Given the description of an element on the screen output the (x, y) to click on. 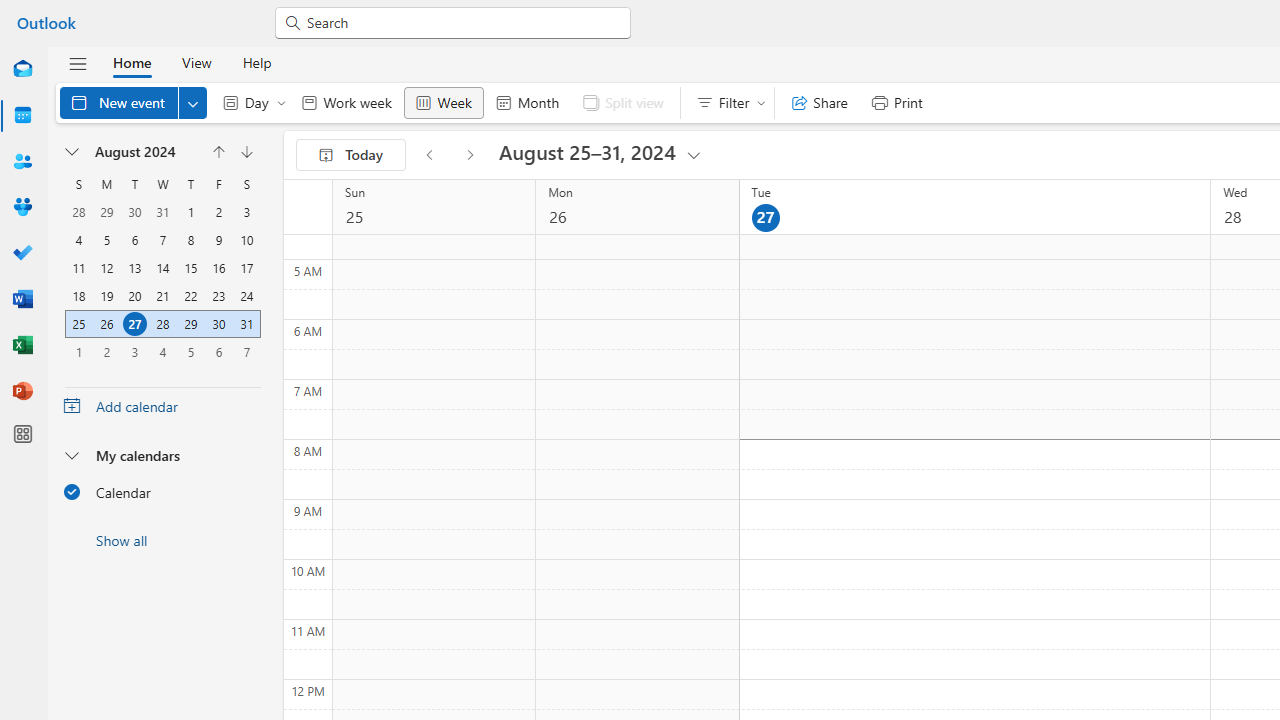
14, August, 2024 (162, 268)
21, August, 2024 (163, 295)
10, August, 2024 (246, 240)
4, August, 2024 (79, 240)
Filter (726, 102)
1, August, 2024 (191, 211)
26, August, 2024 (107, 323)
16, August, 2024 (218, 268)
2, September, 2024 (106, 351)
Saturday (246, 183)
Date selector (73, 152)
2, August, 2024 (218, 211)
Help (256, 61)
